Given the description of an element on the screen output the (x, y) to click on. 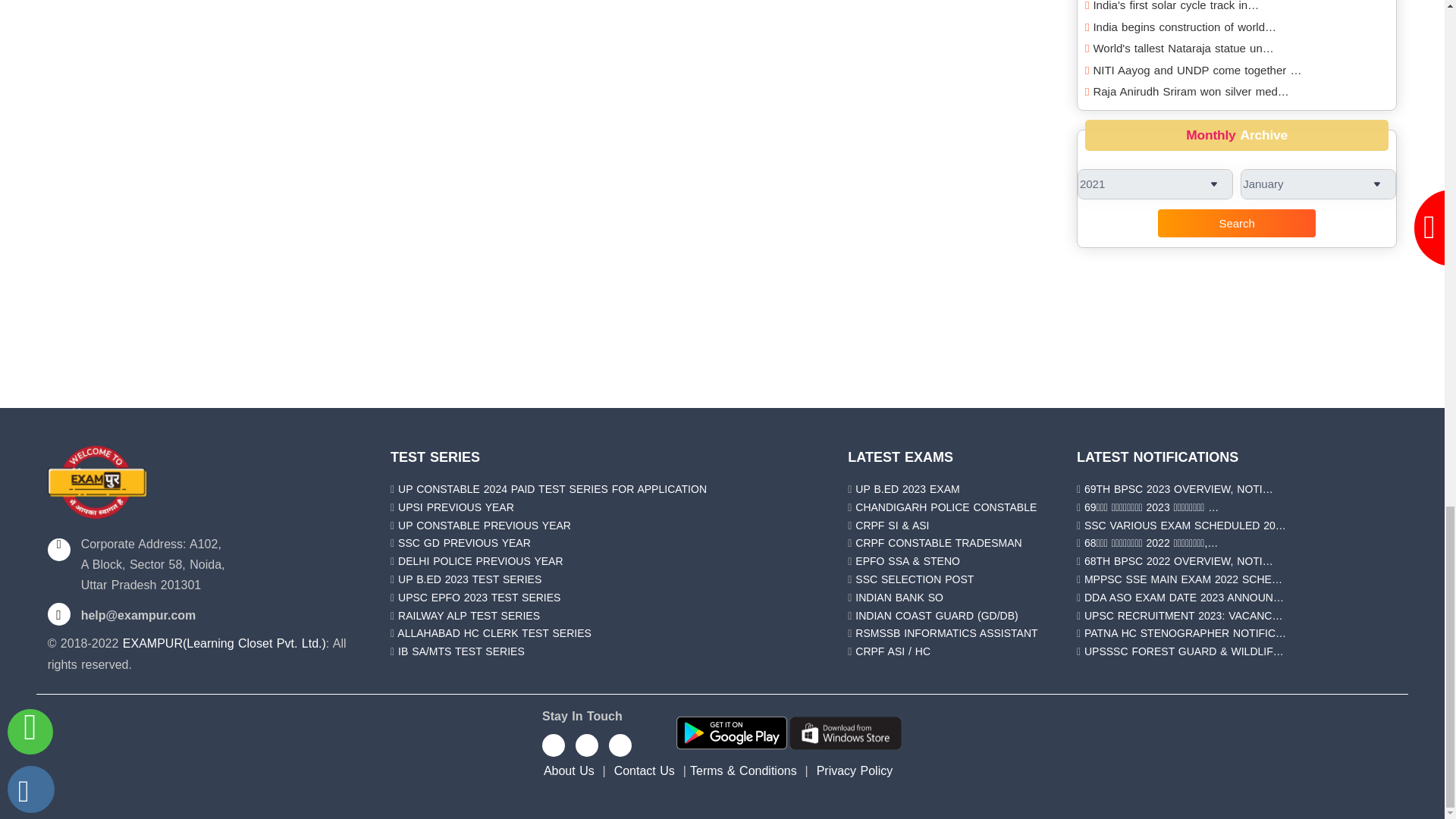
SSC VARIOUS EXAM SCHEDULED 2022: CHECK YOUR EXAM DATE HERE (1184, 525)
MPPSC SSE MAIN EXAM 2022 SCHEDULE: GET YOUR ADMIT CARD (1183, 579)
DDA ASO EXAM DATE 2023 ANNOUNCED: ADMIT CARD DETAILS (1184, 597)
